Given the description of an element on the screen output the (x, y) to click on. 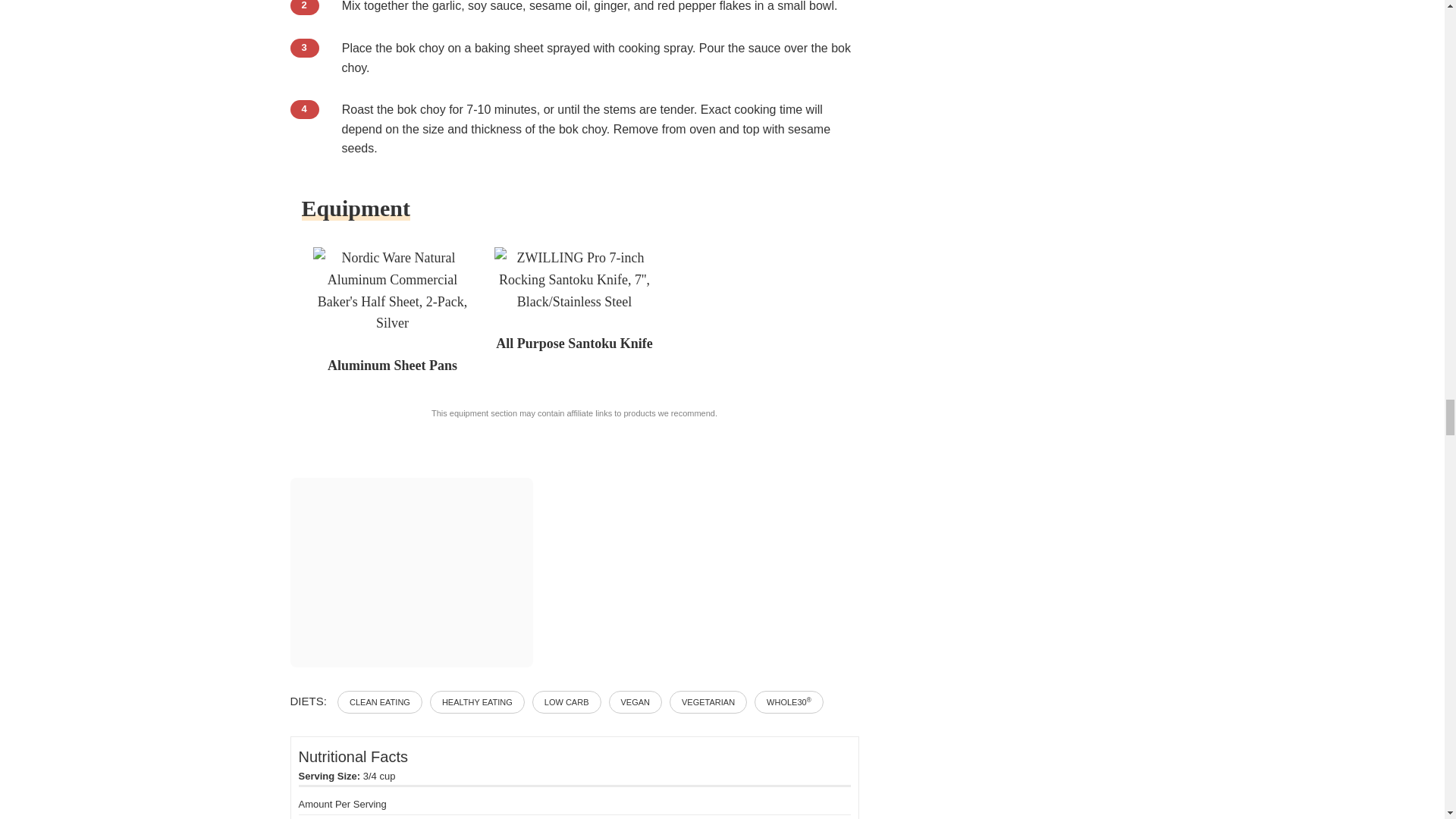
Aluminum Sheet Pans (392, 365)
Aluminum Sheet Pans (392, 290)
All Purpose Santoku Knife  (574, 279)
All Purpose Santoku Knife  (574, 343)
